Given the description of an element on the screen output the (x, y) to click on. 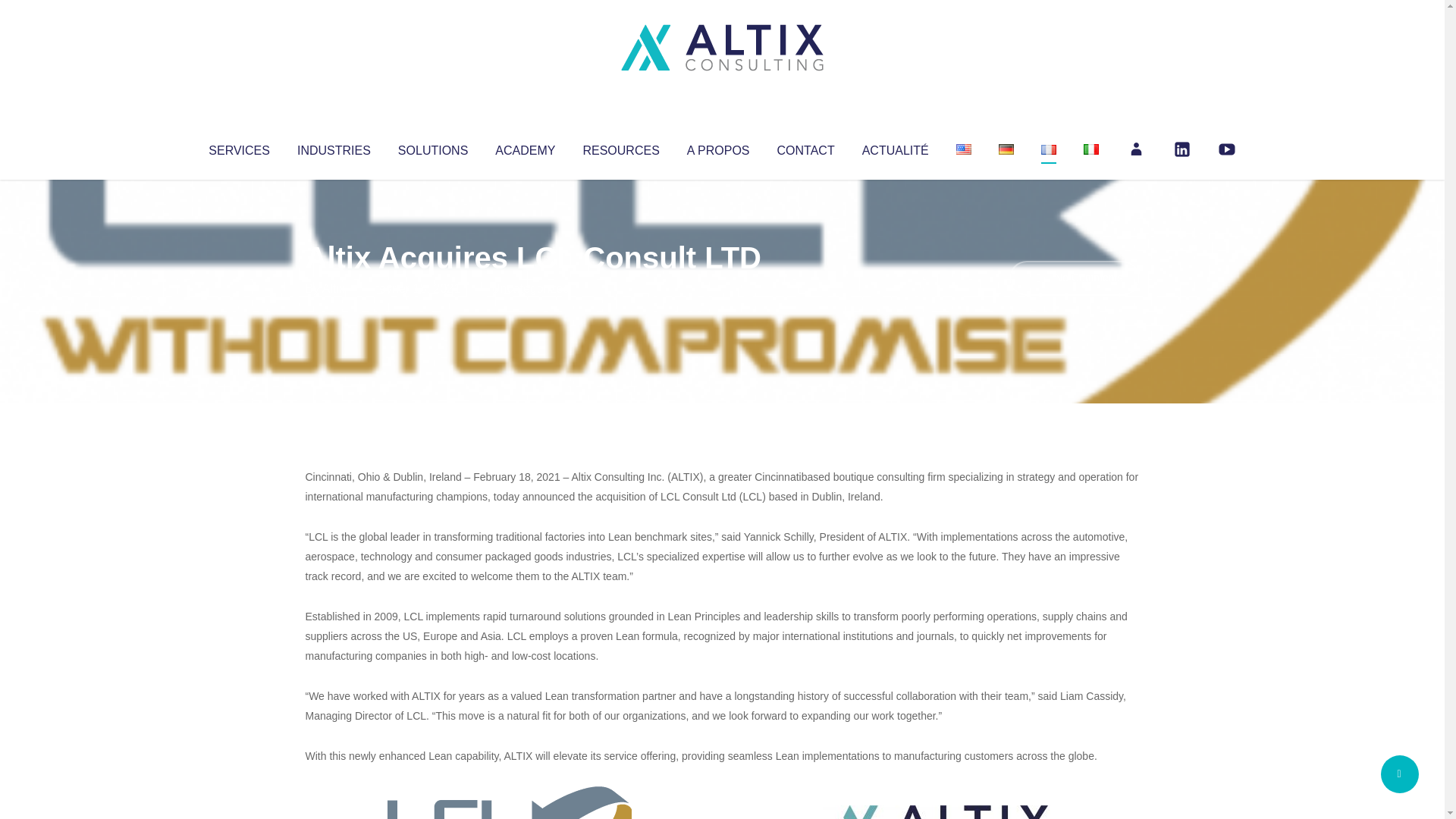
RESOURCES (620, 146)
No Comments (1073, 278)
SOLUTIONS (432, 146)
ACADEMY (524, 146)
A PROPOS (718, 146)
SERVICES (238, 146)
Altix (333, 287)
Articles par Altix (333, 287)
Uncategorized (530, 287)
INDUSTRIES (334, 146)
